Given the description of an element on the screen output the (x, y) to click on. 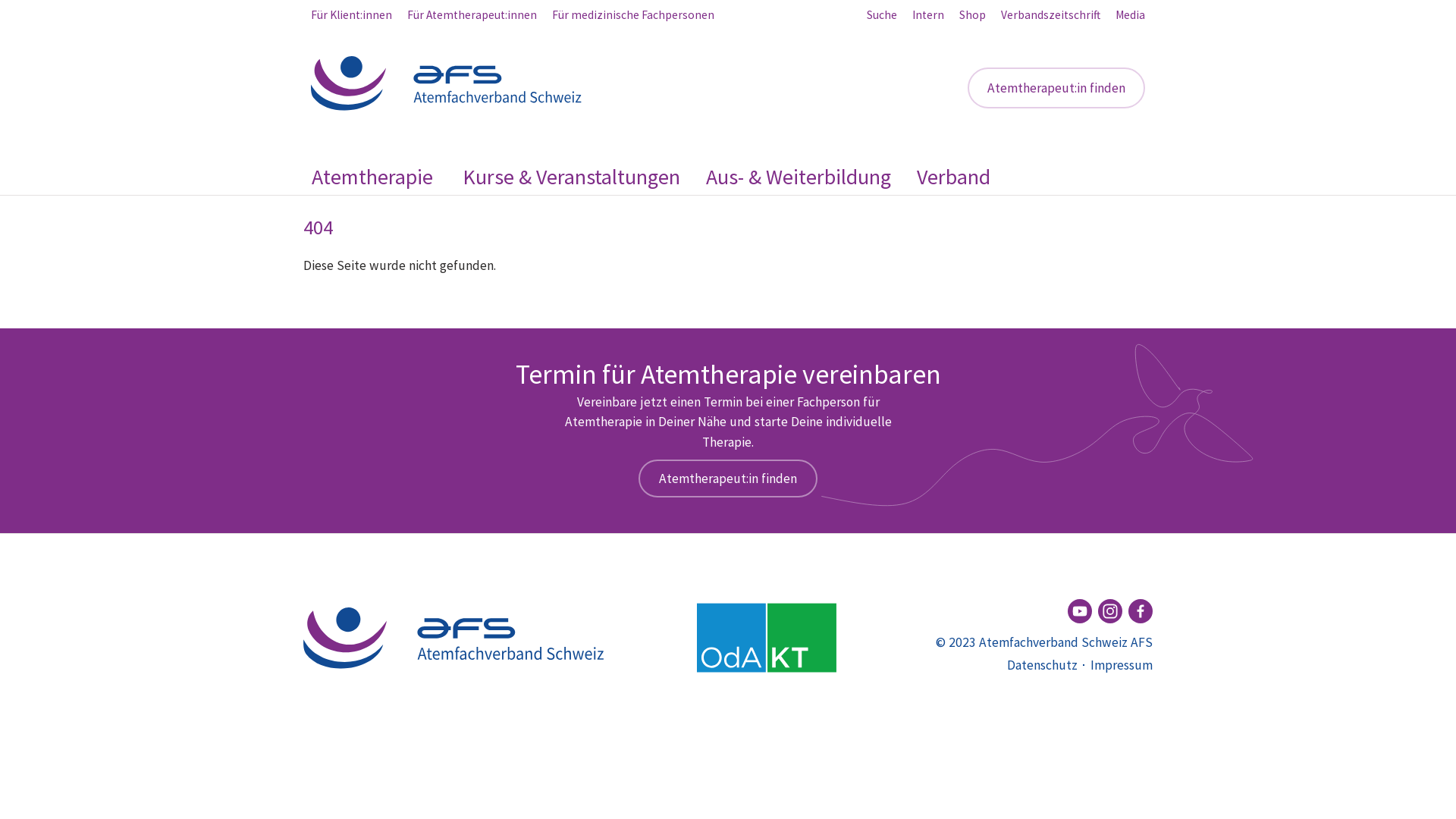
Suche Element type: text (881, 14)
Shop Element type: text (972, 14)
Media Element type: text (1130, 14)
Aus- & Weiterbildung Element type: text (798, 176)
afs-logo-desktop Element type: hover (446, 83)
Verbandszeitschrift Element type: text (1050, 14)
Verband Element type: text (953, 176)
Impressum Element type: text (1121, 664)
Atemtherapeut:in finden Element type: text (1056, 87)
Kurse & Veranstaltungen Element type: text (571, 176)
afs-logo-desktop Element type: hover (454, 637)
Datenschutz Element type: text (1042, 664)
Atemtherapeut:in finden Element type: text (727, 478)
Intern Element type: text (928, 14)
